Given the description of an element on the screen output the (x, y) to click on. 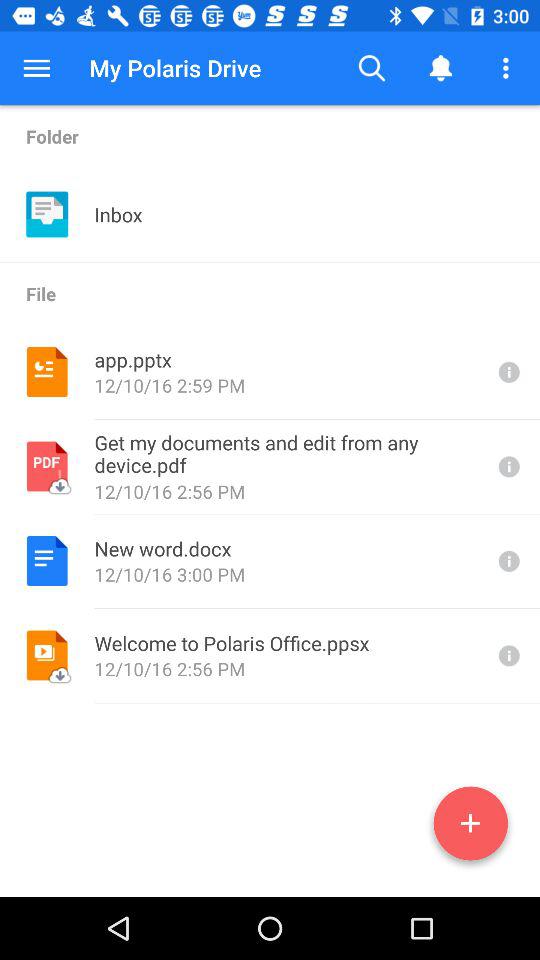
open information (507, 560)
